Given the description of an element on the screen output the (x, y) to click on. 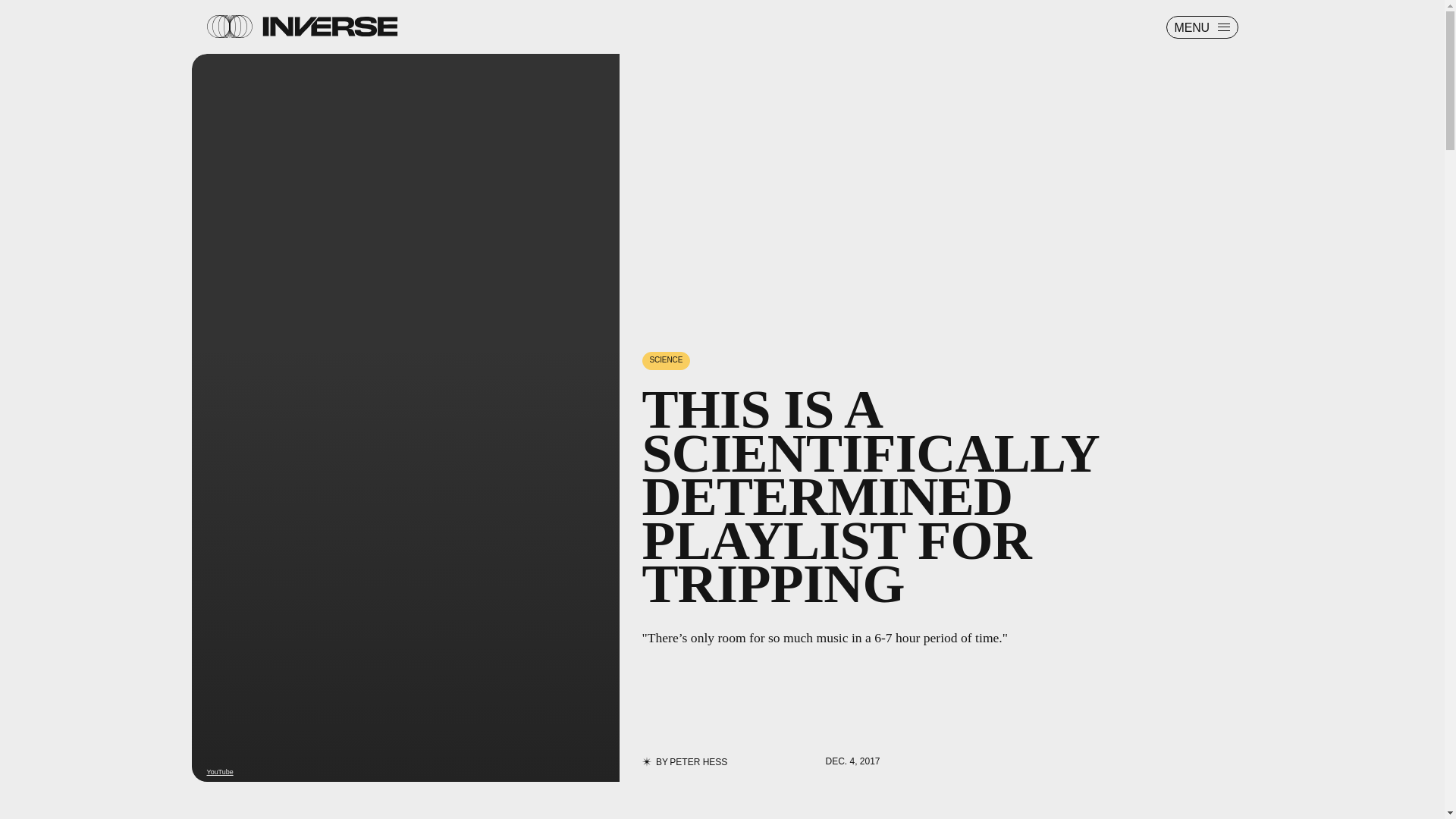
YouTube (219, 771)
PETER HESS (697, 761)
Inverse (328, 26)
